Given the description of an element on the screen output the (x, y) to click on. 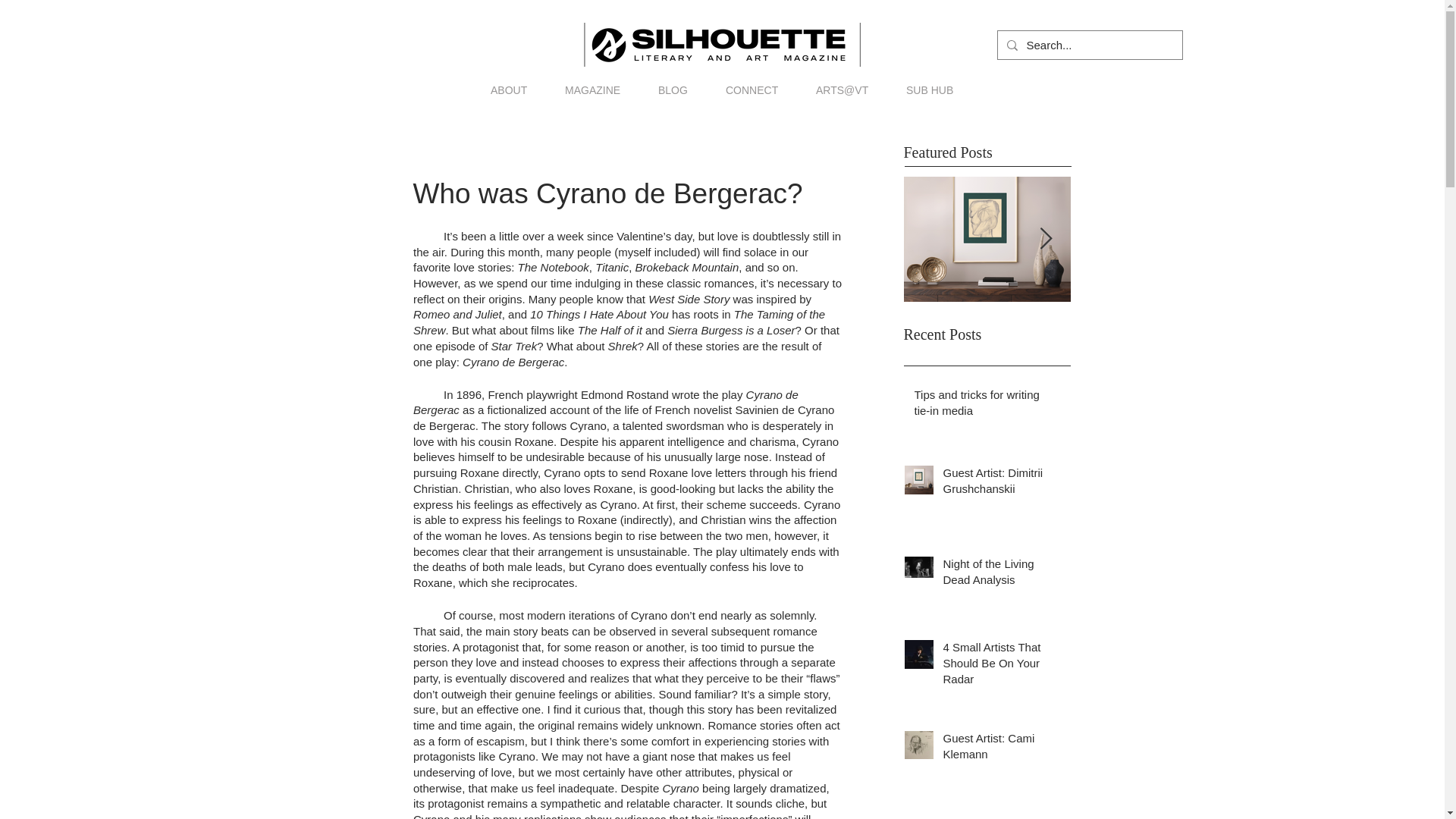
BLOG (672, 90)
4 Small Artists That Should Be On Your Radar (997, 665)
Guest Artist: Dimitrii Grushchanskii (997, 483)
Tips and tricks for writing tie-in media (983, 405)
Night of the Living Dead Analysis (997, 574)
Guest Artist: Cami Klemann (997, 749)
